Given the description of an element on the screen output the (x, y) to click on. 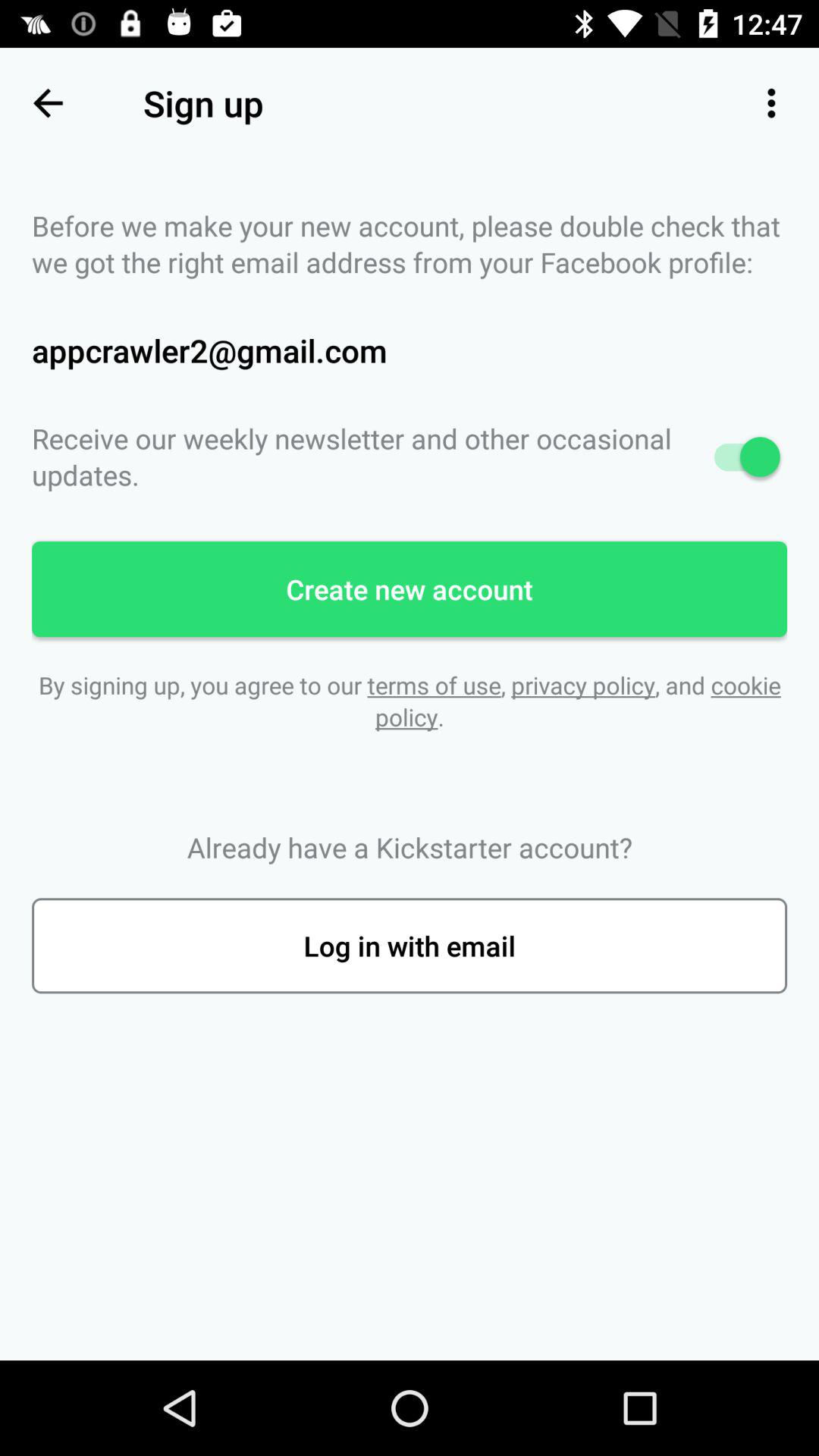
launch the receive our weekly icon (409, 456)
